Given the description of an element on the screen output the (x, y) to click on. 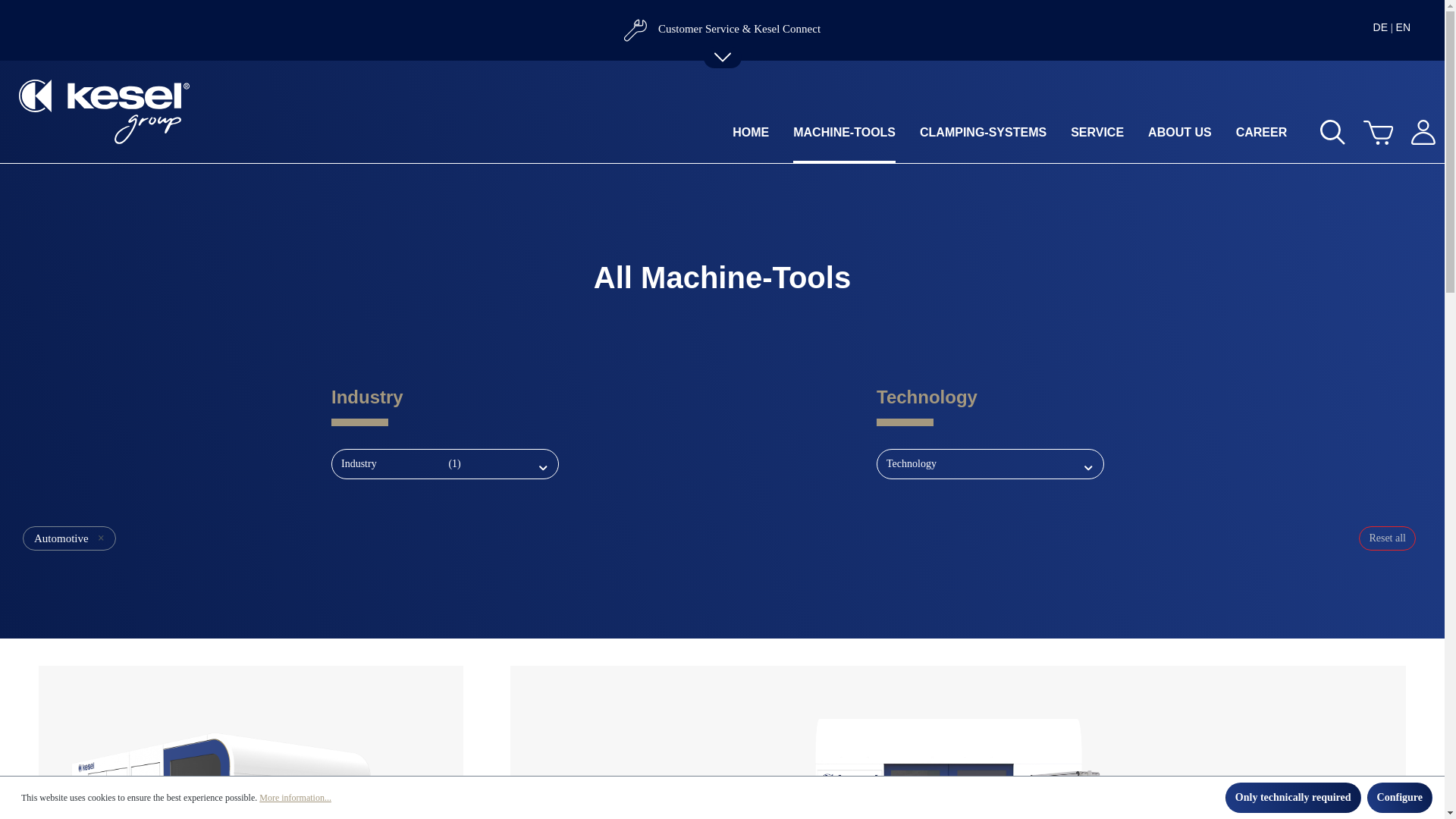
Go to homepage (103, 111)
CAREER (1273, 139)
Career (1273, 139)
About Us (1192, 139)
SERVICE (1109, 139)
ABOUT US (1192, 139)
CLAMPING-SYSTEMS (995, 139)
DE (1380, 27)
HOME (762, 139)
MACHINE-TOOLS (856, 139)
